Given the description of an element on the screen output the (x, y) to click on. 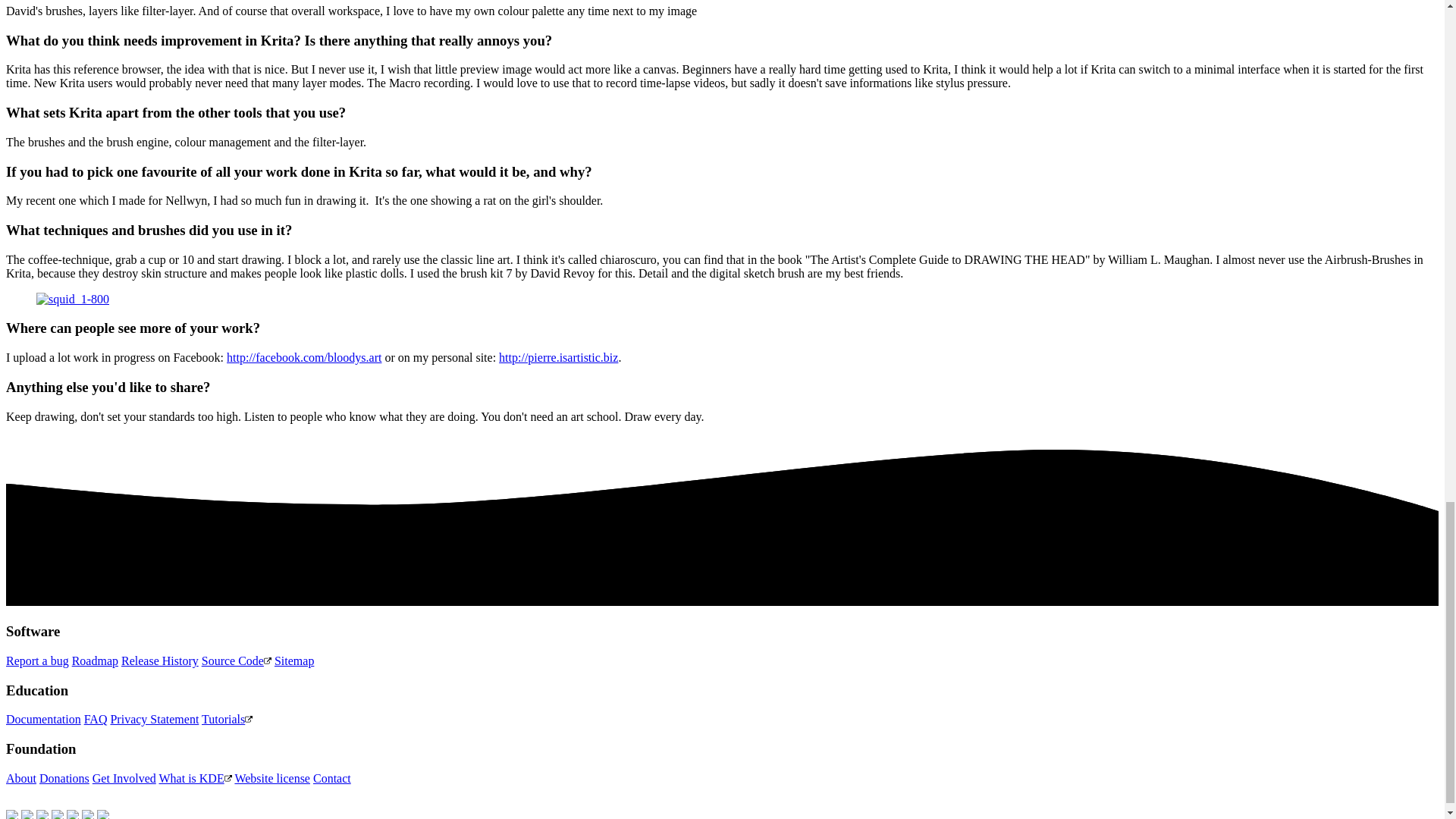
Report a bug (36, 660)
Website license (272, 778)
Documentation (43, 718)
Release History (159, 660)
Tutorials (226, 718)
Sitemap (294, 660)
FAQ (95, 718)
Donations (63, 778)
Roadmap (94, 660)
About (20, 778)
What is KDE (194, 778)
Privacy Statement (154, 718)
Get Involved (124, 778)
Source Code (236, 660)
